Given the description of an element on the screen output the (x, y) to click on. 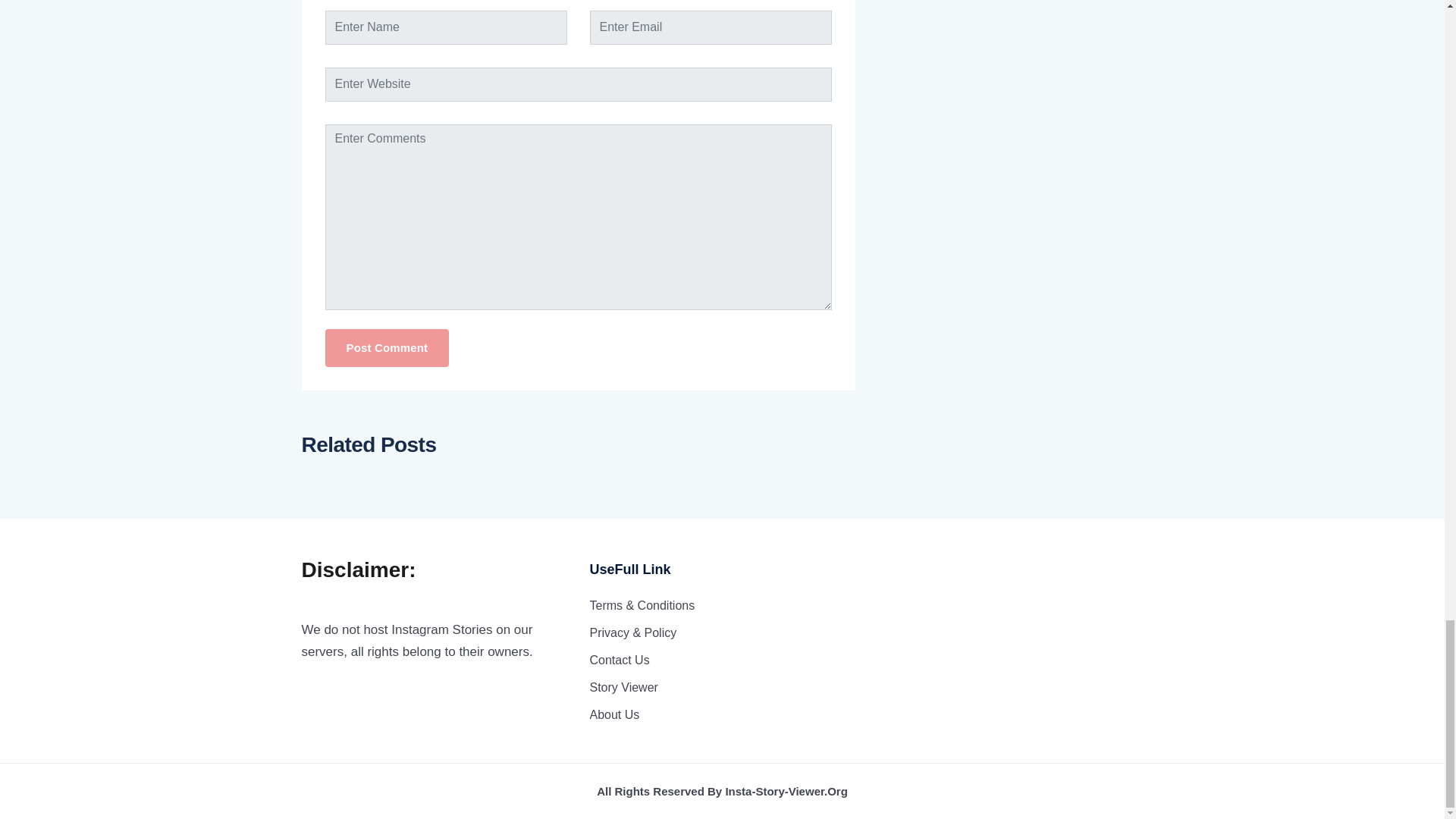
Contact Us (619, 660)
Post Comment (386, 348)
Post Comment (386, 348)
About Us (614, 714)
Story Viewer (623, 687)
